Given the description of an element on the screen output the (x, y) to click on. 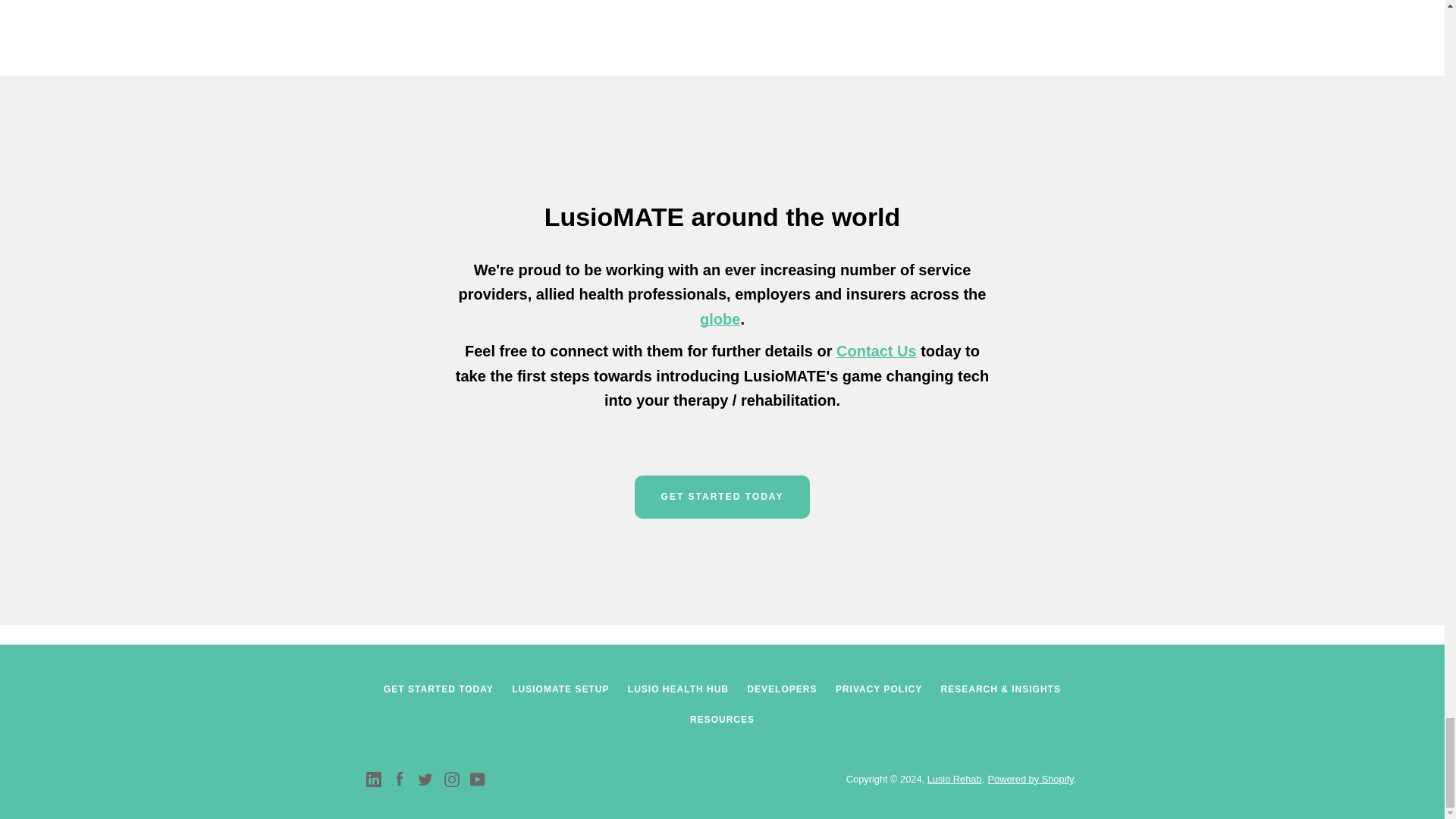
Lusio Rehab Partners (719, 319)
